Given the description of an element on the screen output the (x, y) to click on. 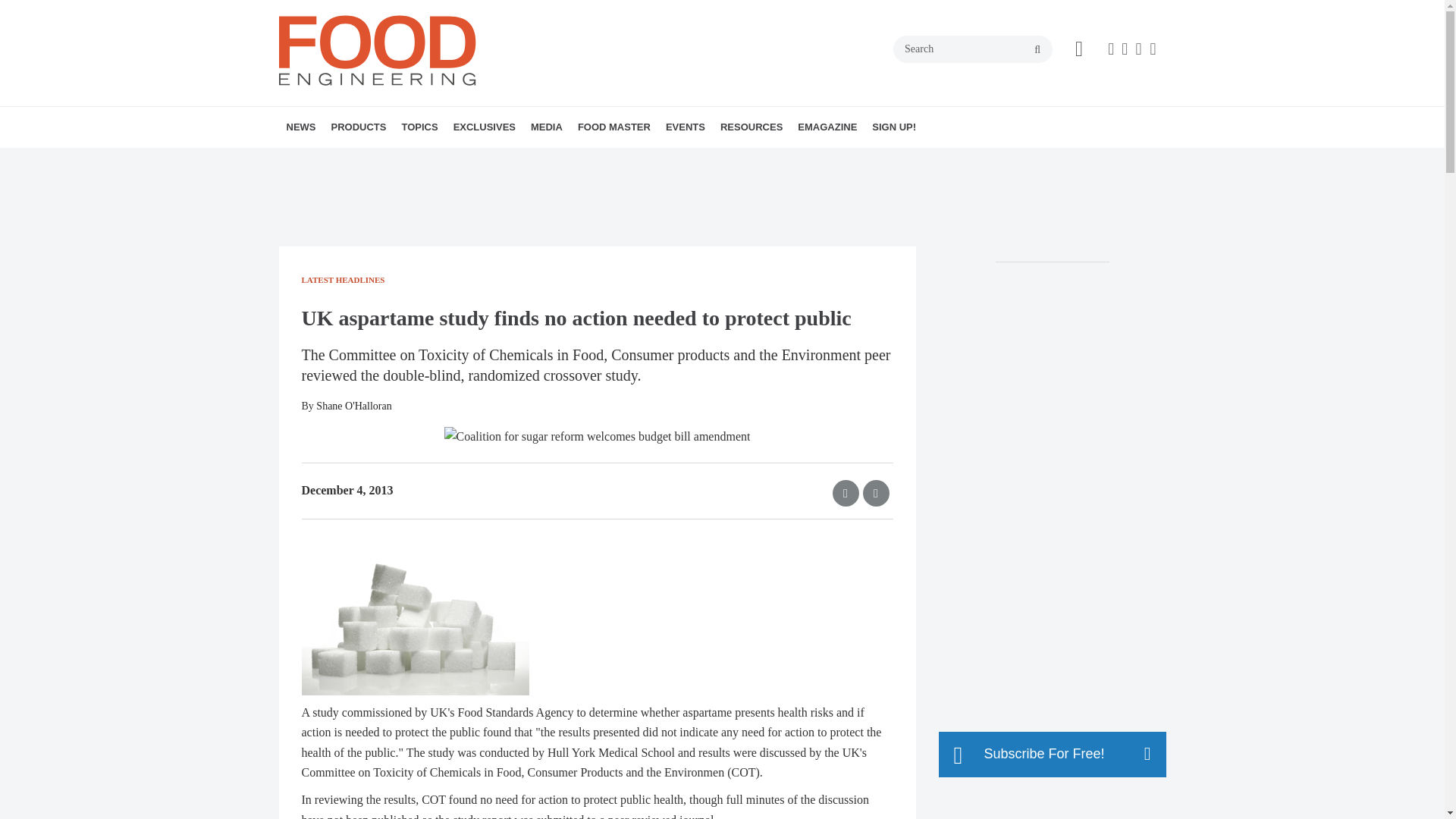
PACKAGING (525, 160)
Search (972, 49)
REGULATORY WATCH (400, 160)
MANUFACTURING NEWS (380, 160)
MAINTENANCE STRATEGIES (519, 160)
CANNABIS (501, 160)
SUPPLIER NEWS (404, 160)
NEW PLANT PRODUCTS (417, 160)
MORE (531, 160)
FOOD SAFETY (516, 160)
